Given the description of an element on the screen output the (x, y) to click on. 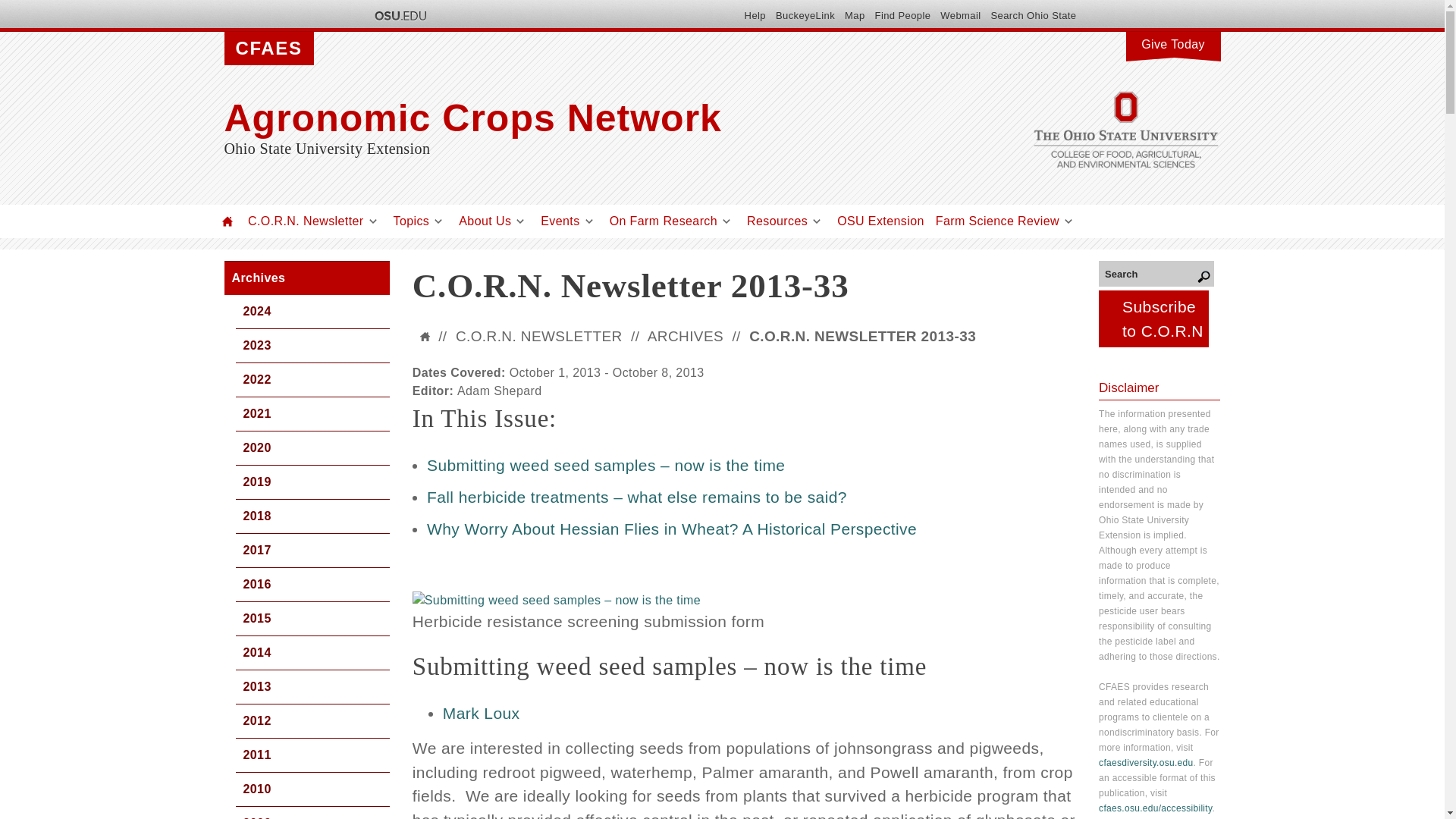
BuckeyeLink (805, 15)
Enter the terms you wish to search for. (1155, 273)
Search (1155, 273)
Herbicide resistance screening submission form (556, 600)
Topics (411, 221)
Home (226, 221)
Skip to main content (686, 1)
Home (572, 118)
C.O.R.N. Newsletter (305, 221)
Webmail (959, 15)
Give Today (1172, 42)
The Ohio State University (399, 15)
Search Ohio State (1032, 15)
Find People (903, 15)
CFAES (269, 48)
